Given the description of an element on the screen output the (x, y) to click on. 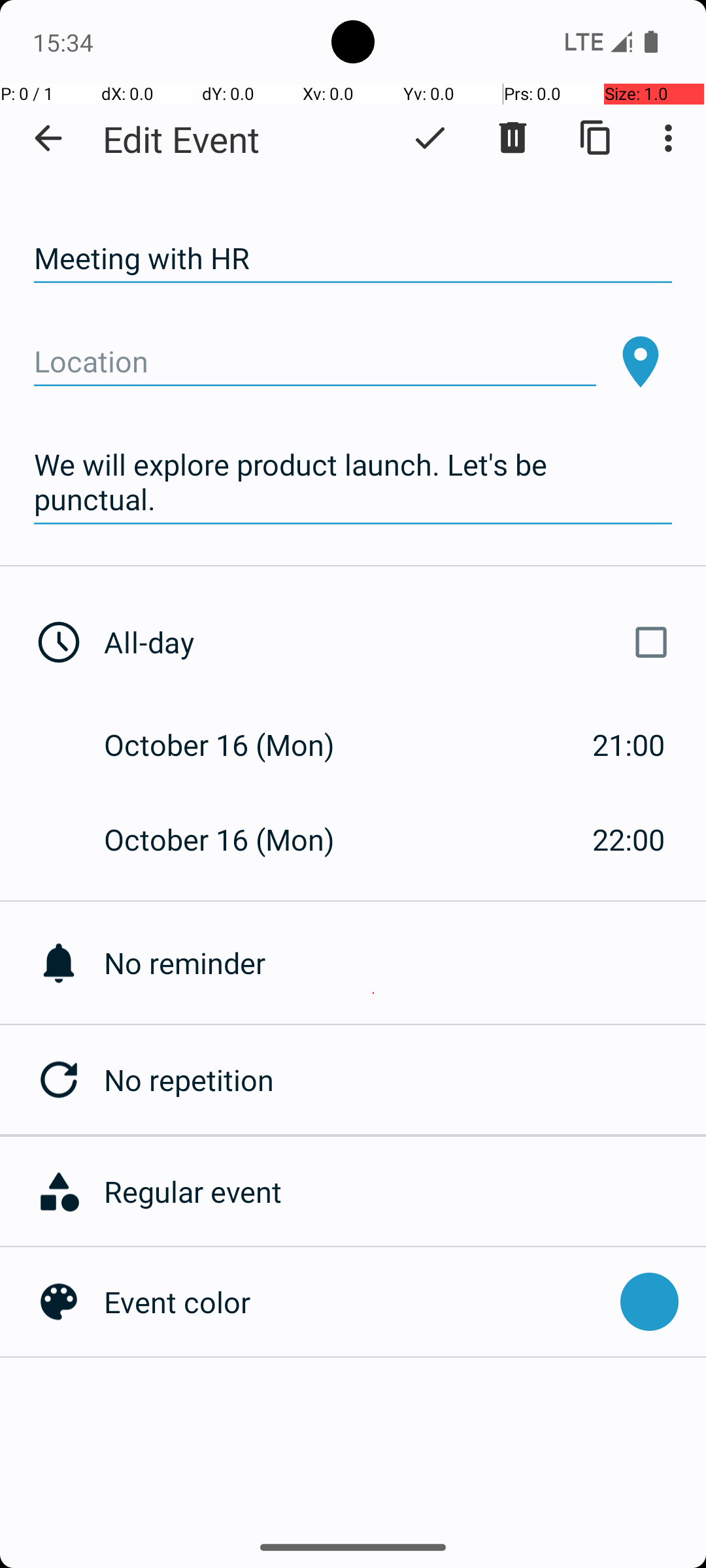
Edit Event Element type: android.widget.TextView (181, 138)
Duplicate event Element type: android.widget.Button (595, 137)
Meeting with HR Element type: android.widget.EditText (352, 258)
Location Element type: android.widget.EditText (314, 361)
We will explore product launch. Let's be punctual. Element type: android.widget.EditText (352, 482)
October 16 (Mon) Element type: android.widget.TextView (232, 744)
21:00 Element type: android.widget.TextView (628, 744)
22:00 Element type: android.widget.TextView (628, 838)
No reminder Element type: android.widget.TextView (404, 962)
No repetition Element type: android.widget.TextView (404, 1079)
All-day Element type: android.widget.CheckBox (390, 642)
Event color Element type: android.widget.TextView (354, 1301)
